Given the description of an element on the screen output the (x, y) to click on. 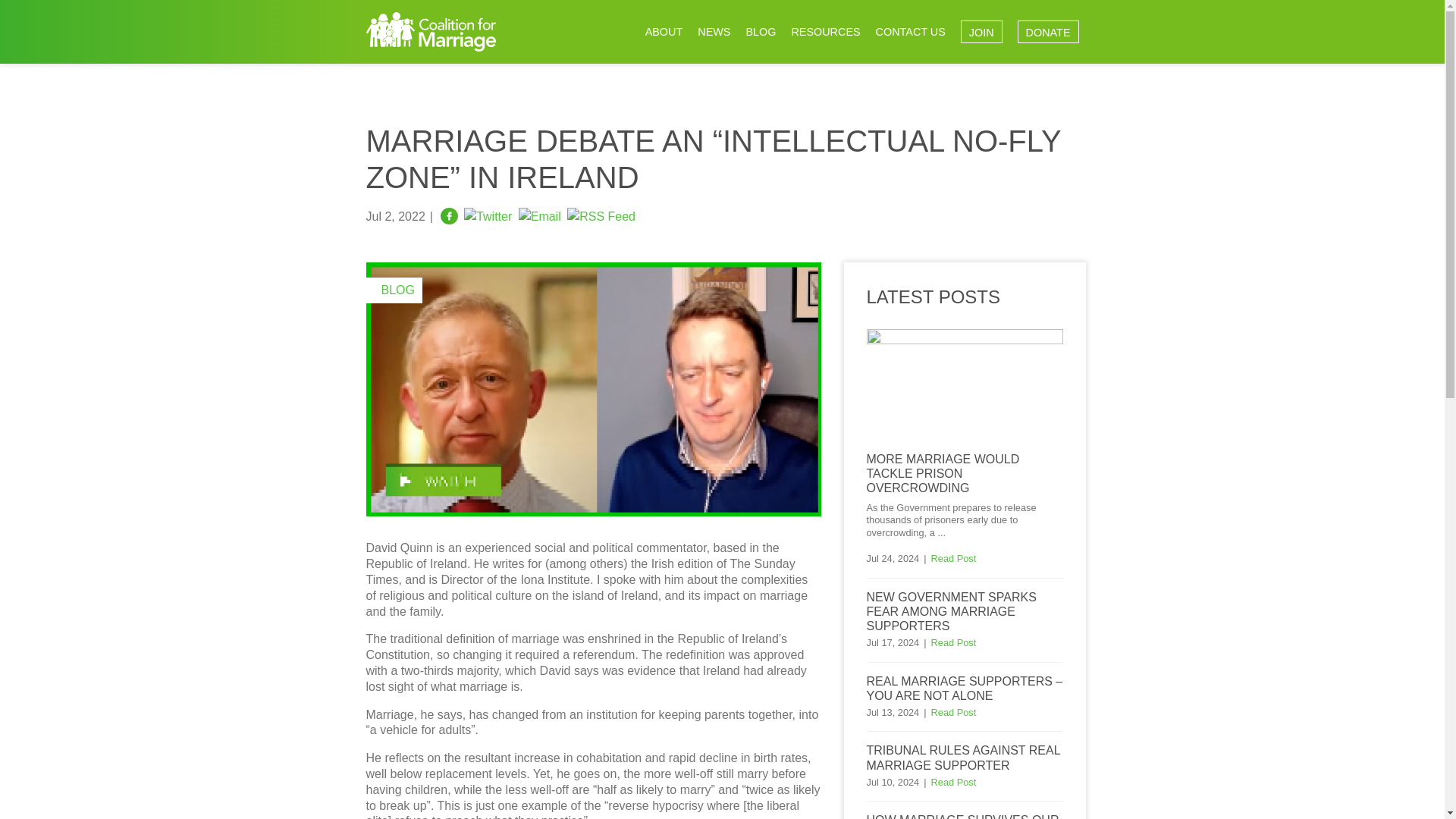
CONTACT US (910, 31)
Share this on Twitter (488, 215)
NEWS (714, 31)
Read Post (953, 781)
Read Post (953, 558)
Read Post (953, 712)
BLOG (760, 31)
RESOURCES (825, 31)
ABOUT (663, 31)
JOIN (981, 31)
Share this on Facebook (449, 215)
DONATE (1047, 31)
Read Post (953, 642)
